Given the description of an element on the screen output the (x, y) to click on. 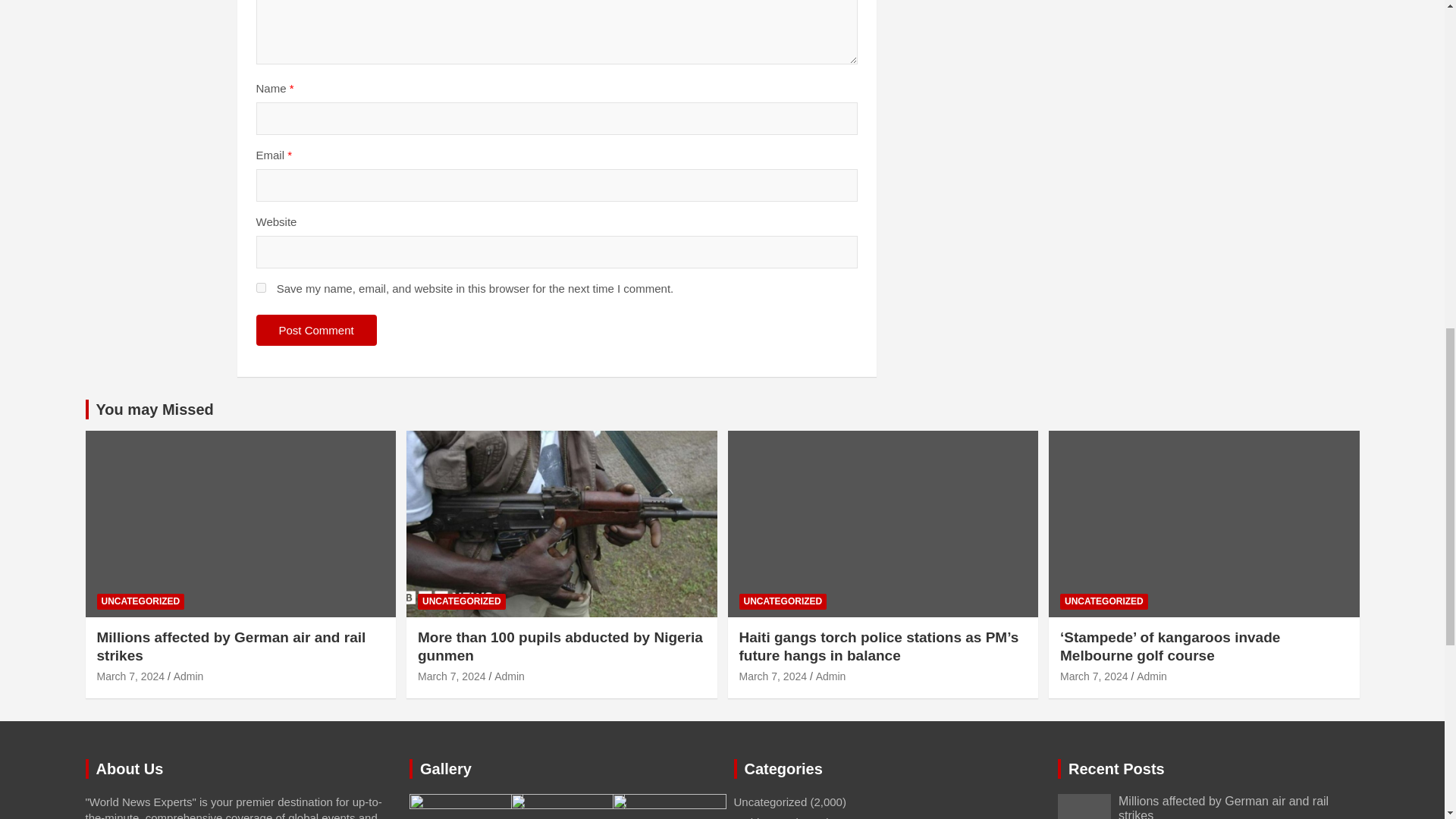
yes (261, 287)
Post Comment (316, 329)
Post Comment (316, 329)
More than 100 pupils abducted by Nigeria gunmen (451, 676)
Millions affected by German air and rail strikes (131, 676)
